Given the description of an element on the screen output the (x, y) to click on. 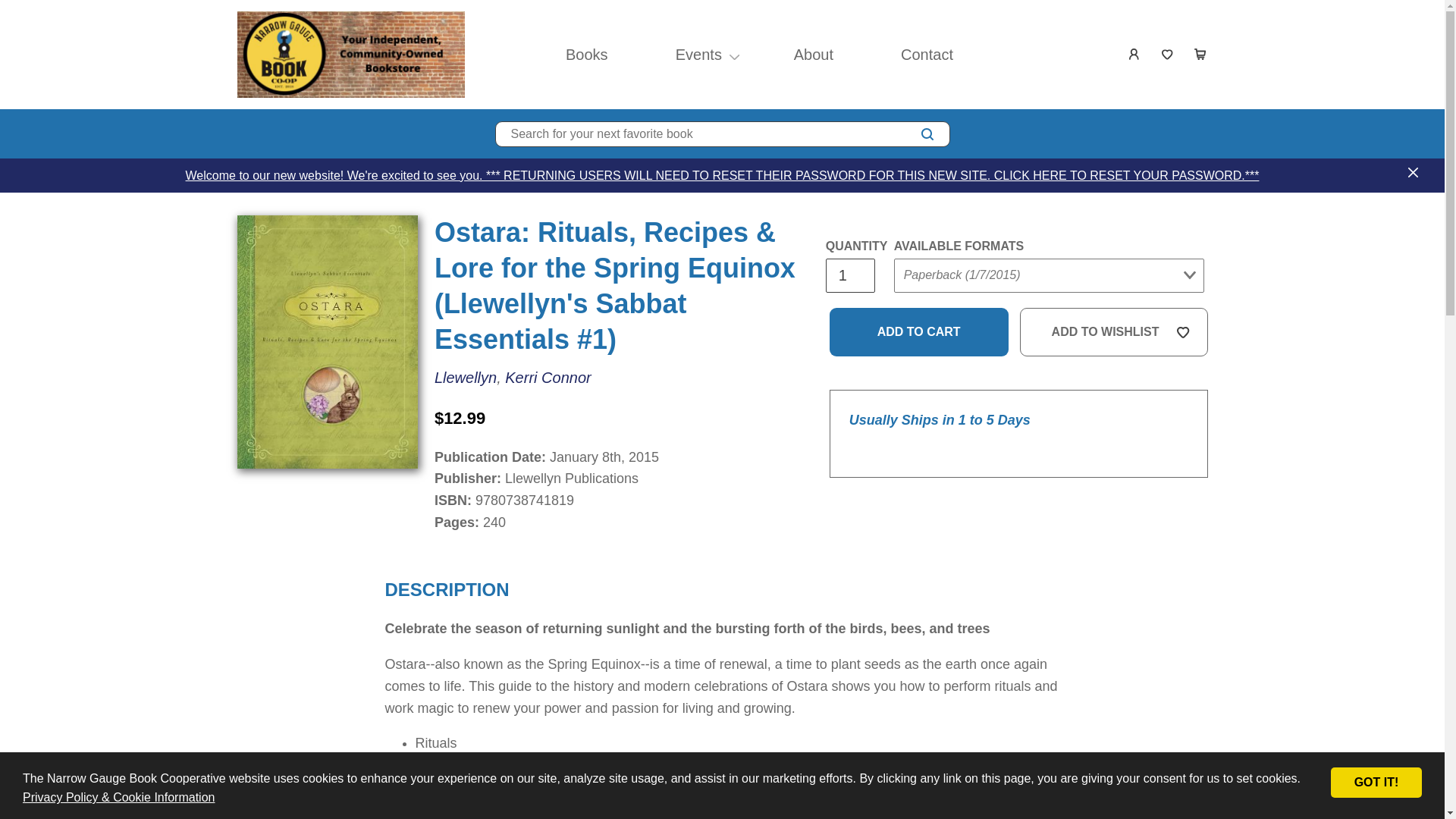
Contact (927, 54)
Llewellyn (464, 376)
Log in (1134, 54)
1 (850, 275)
ADD TO WISHLIST (1114, 331)
Cart (1201, 54)
SEARCH (926, 134)
EVENTS SUB-NAVIGATION (734, 54)
Add to cart (919, 331)
Books (587, 54)
Events (698, 54)
About (812, 54)
Submit (922, 306)
Kerri Connor (548, 376)
Wishlist (1168, 54)
